Given the description of an element on the screen output the (x, y) to click on. 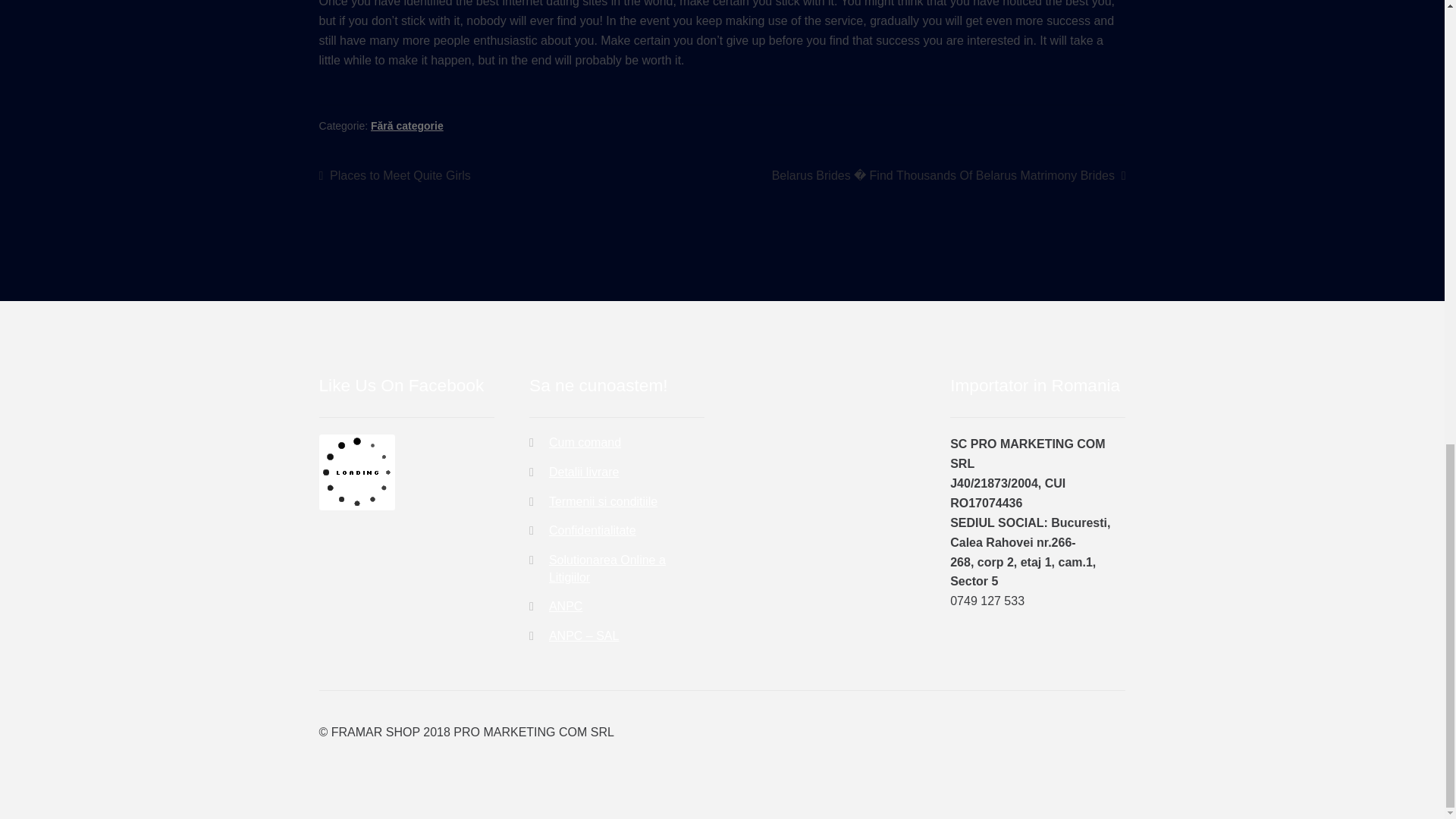
Confidentialitate (592, 530)
ANPC (565, 605)
Cum comand (584, 441)
Solutionarea Online a Litigiilor (394, 175)
Detalii livrare (606, 568)
Termenii si conditiile (583, 472)
